Given the description of an element on the screen output the (x, y) to click on. 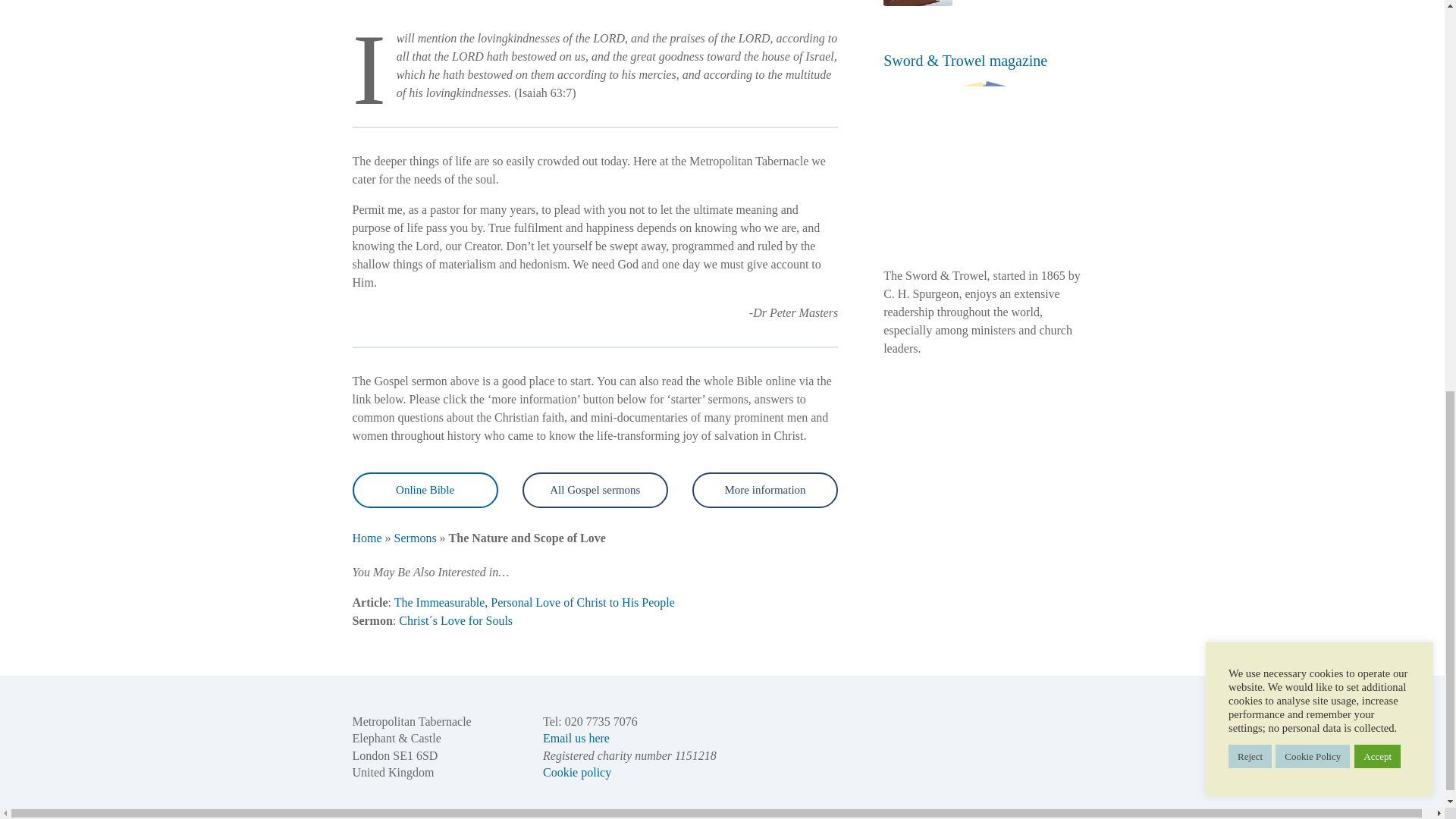
Online Bible (424, 489)
All Gospel sermons (595, 489)
Home (366, 537)
The Immeasurable, Personal Love of Christ to His People (534, 602)
Sermons (415, 537)
More information (765, 489)
